Given the description of an element on the screen output the (x, y) to click on. 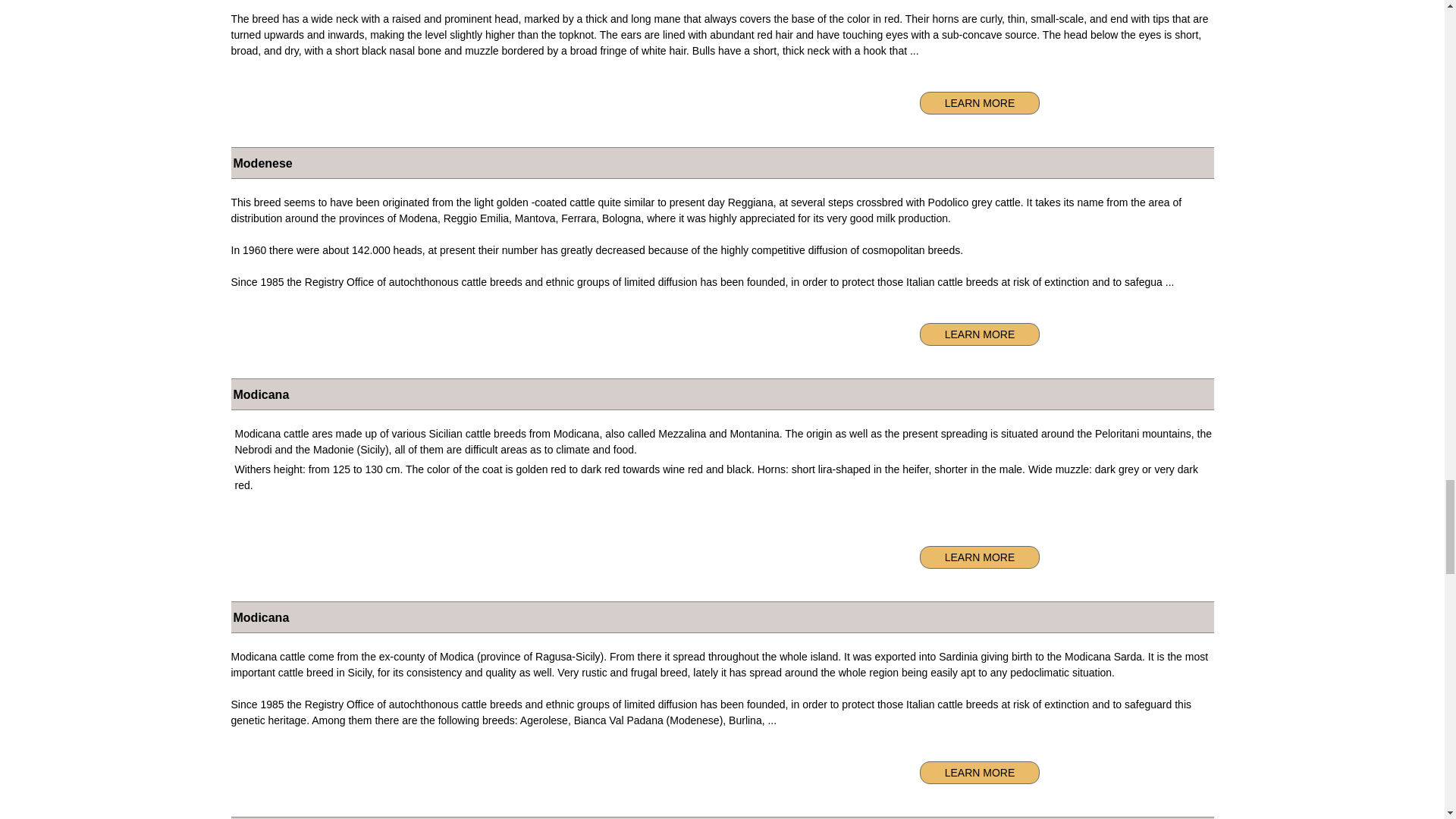
LEARN MORE (980, 102)
LEARN MORE (980, 333)
LEARN MORE (980, 557)
LEARN MORE (980, 772)
